Given the description of an element on the screen output the (x, y) to click on. 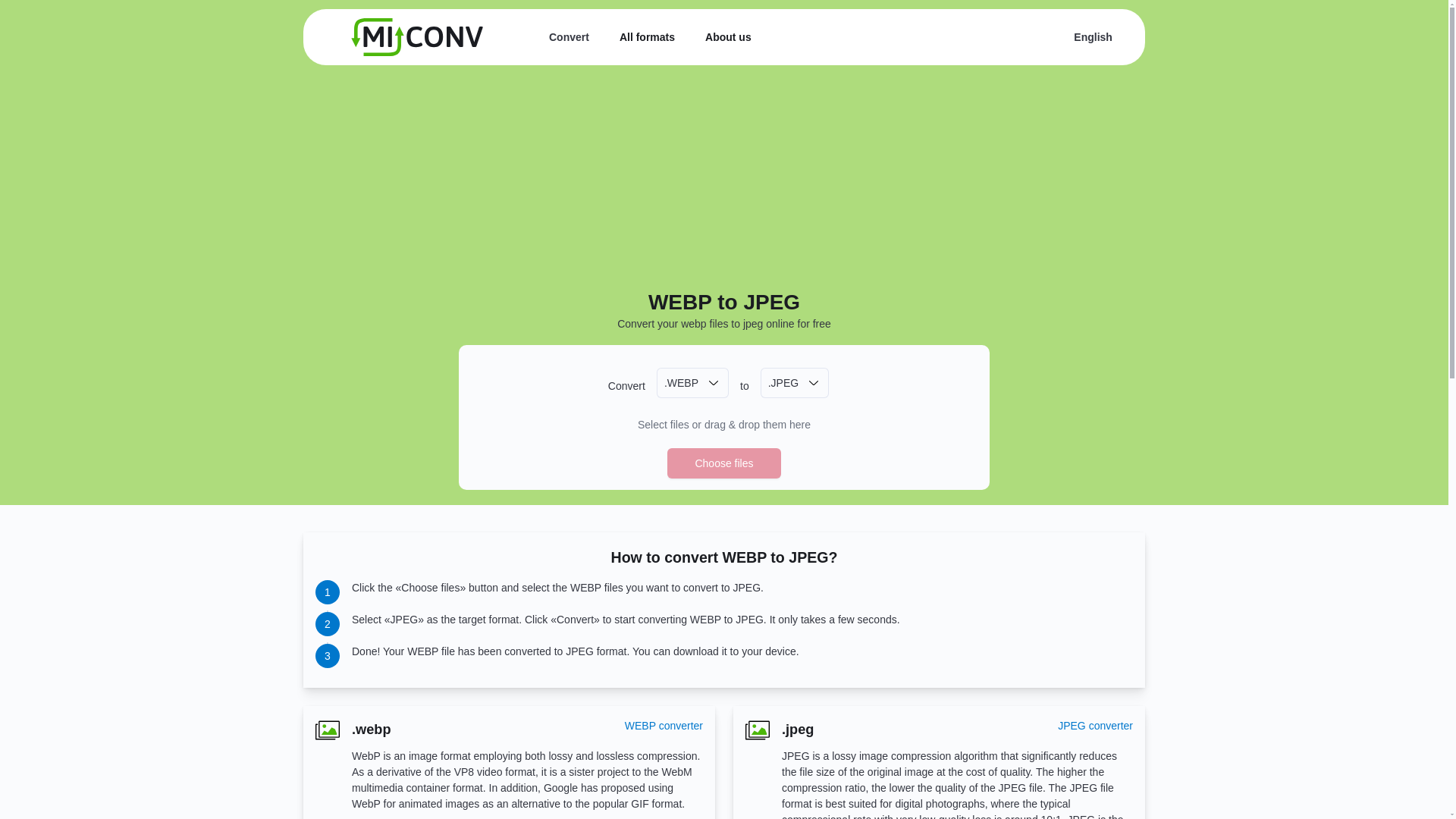
All formats (647, 37)
About us (727, 37)
